Given the description of an element on the screen output the (x, y) to click on. 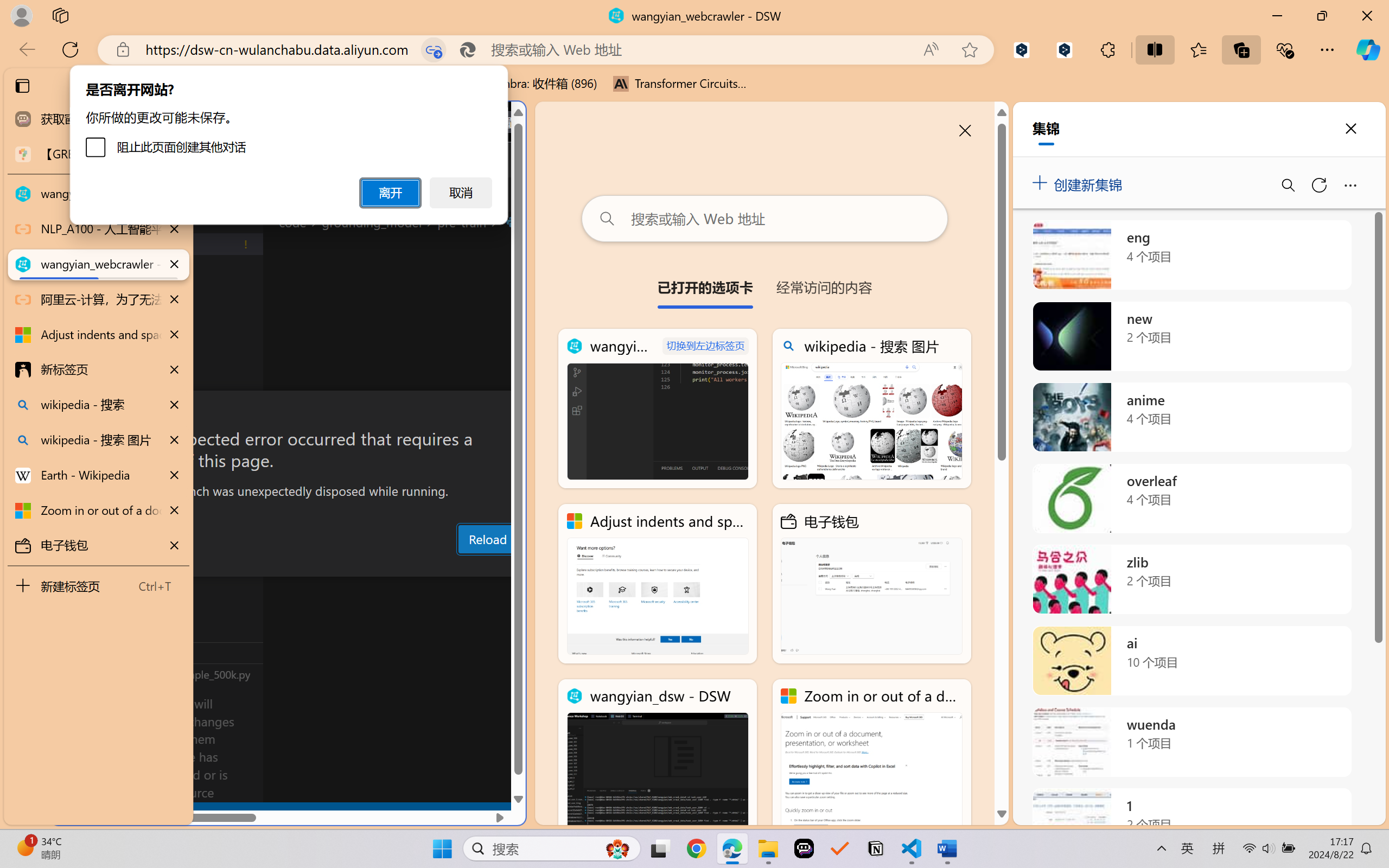
Output (Ctrl+Shift+U) (377, 565)
Problems (Ctrl+Shift+M) (308, 565)
Outline Section (179, 652)
Earth - Wikipedia (97, 475)
Run and Debug (Ctrl+Shift+D) (73, 375)
